Given the description of an element on the screen output the (x, y) to click on. 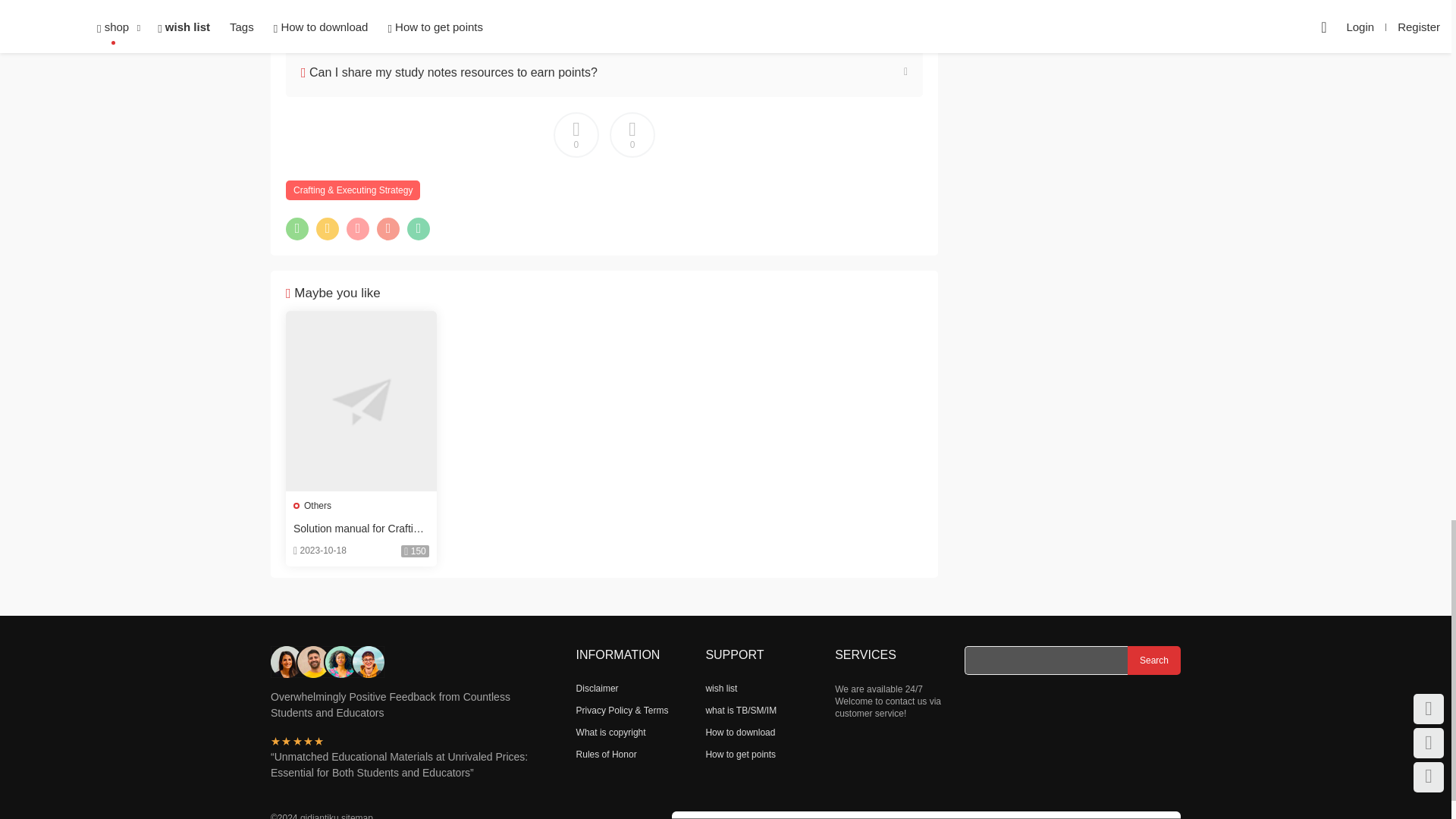
Collects (575, 135)
0 (632, 135)
Search (1153, 660)
0 (575, 135)
